Given the description of an element on the screen output the (x, y) to click on. 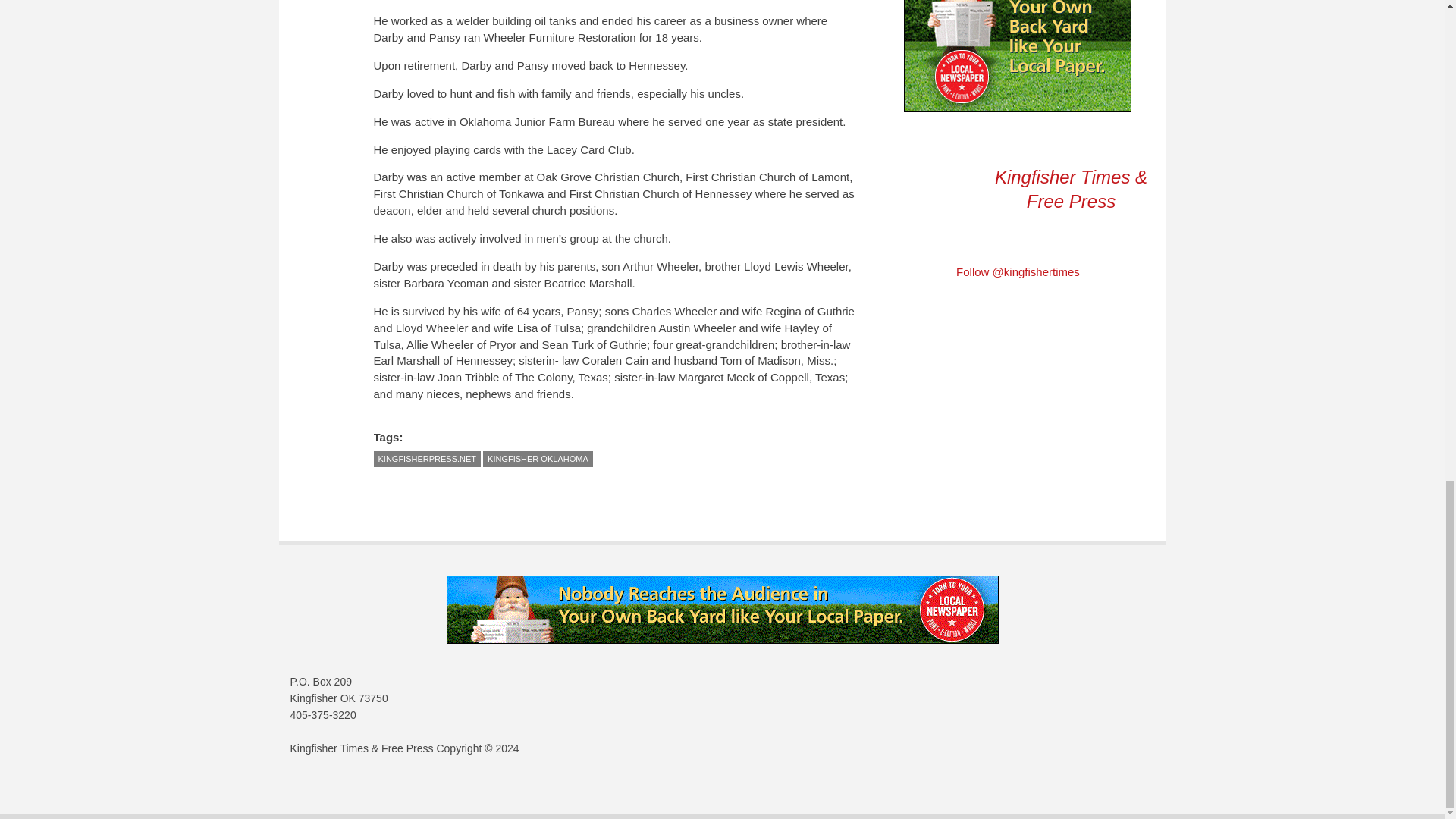
KINGFISHER OKLAHOMA (537, 458)
KINGFISHERPRESS.NET (426, 458)
